Given the description of an element on the screen output the (x, y) to click on. 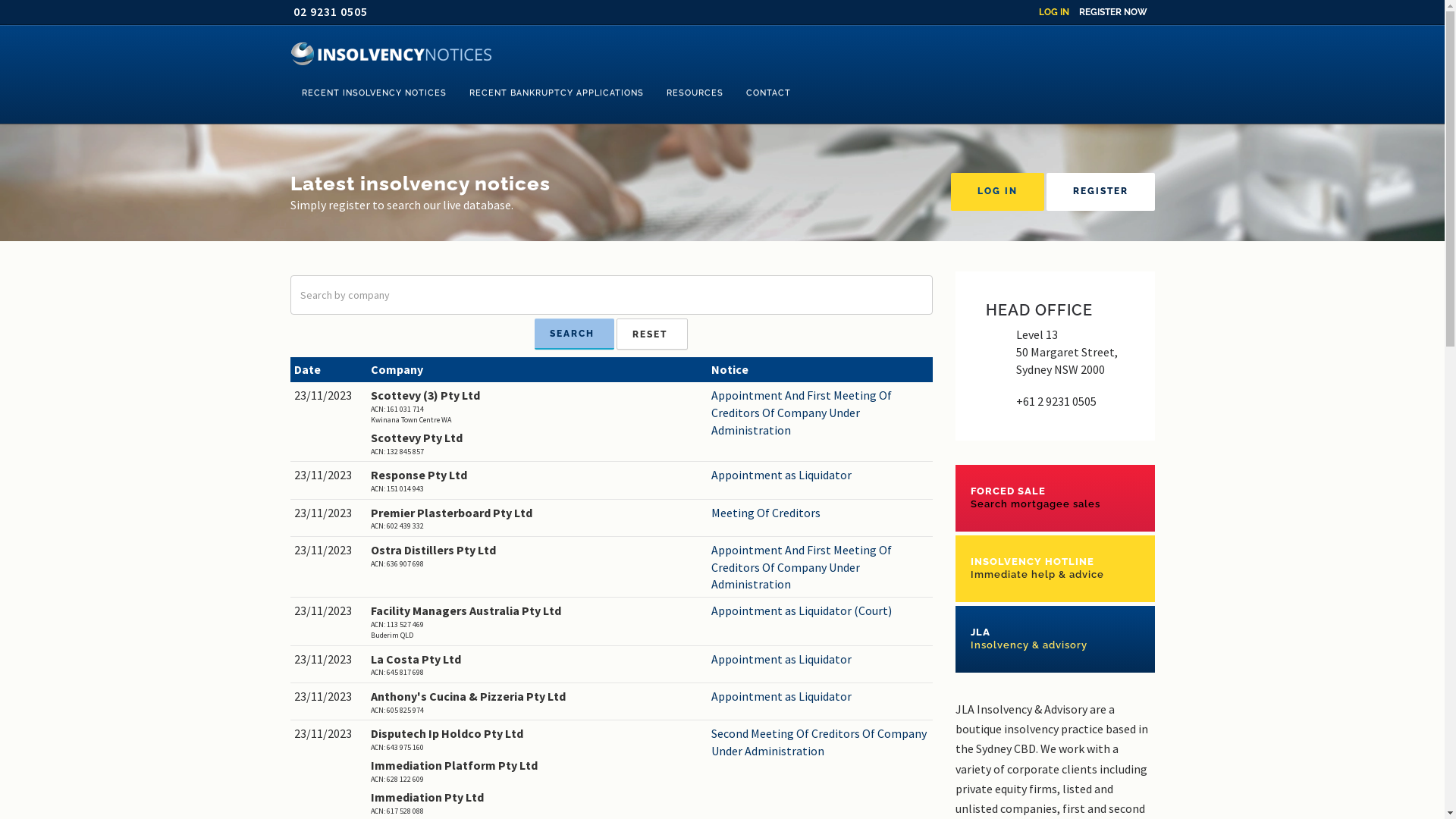
RECENT INSOLVENCY NOTICES Element type: text (373, 92)
REGISTER Element type: text (1100, 191)
RESOURCES Element type: text (694, 92)
23/11/2023 Element type: text (329, 733)
FORCED SALE  
Search mortgagee sales Element type: text (1054, 497)
23/11/2023 Element type: text (329, 512)
LOG IN Element type: text (997, 191)
23/11/2023 Element type: text (329, 395)
Ostra Distillers Pty Ltd
ACN: 636 907 698 Element type: text (536, 555)
Search Element type: text (574, 333)
23/11/2023 Element type: text (329, 549)
Appointment as Liquidator Element type: text (819, 696)
RECENT BANKRUPTCY APPLICATIONS Element type: text (556, 92)
CONTACT Element type: text (767, 92)
23/11/2023 Element type: text (329, 610)
INSOLVENCY HOTLINE  
Immediate help & advice Element type: text (1054, 568)
Appointment as Liquidator Element type: text (819, 659)
REGISTER NOW Element type: text (1112, 11)
Meeting Of Creditors Element type: text (819, 512)
Appointment as Liquidator (Court) Element type: text (819, 610)
Second Meeting Of Creditors Of Company Under Administration Element type: text (819, 741)
23/11/2023 Element type: text (329, 696)
23/11/2023 Element type: text (329, 659)
Response Pty Ltd
ACN: 151 014 943 Element type: text (536, 480)
LOG IN Element type: text (1053, 11)
Appointment as Liquidator Element type: text (819, 474)
Premier Plasterboard Pty Ltd
ACN: 602 439 332 Element type: text (536, 518)
JLA  
Insolvency & advisory Element type: text (1054, 638)
Anthony's Cucina & Pizzeria Pty Ltd
ACN: 605 825 974 Element type: text (536, 701)
La Costa Pty Ltd
ACN: 645 817 698 Element type: text (536, 664)
23/11/2023 Element type: text (329, 474)
